Given the description of an element on the screen output the (x, y) to click on. 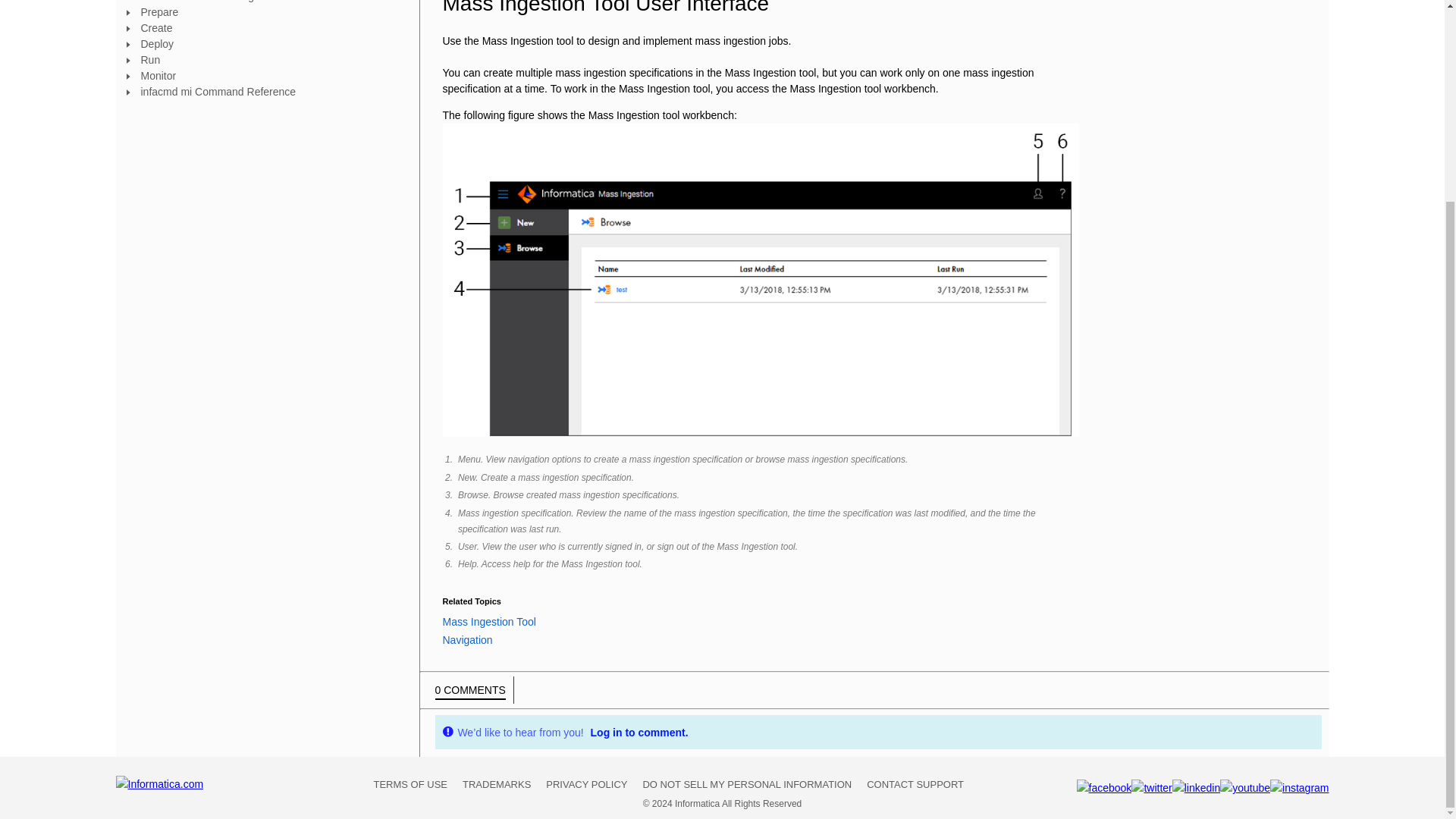
Introduction to Mass Ingestion (270, 2)
